Given the description of an element on the screen output the (x, y) to click on. 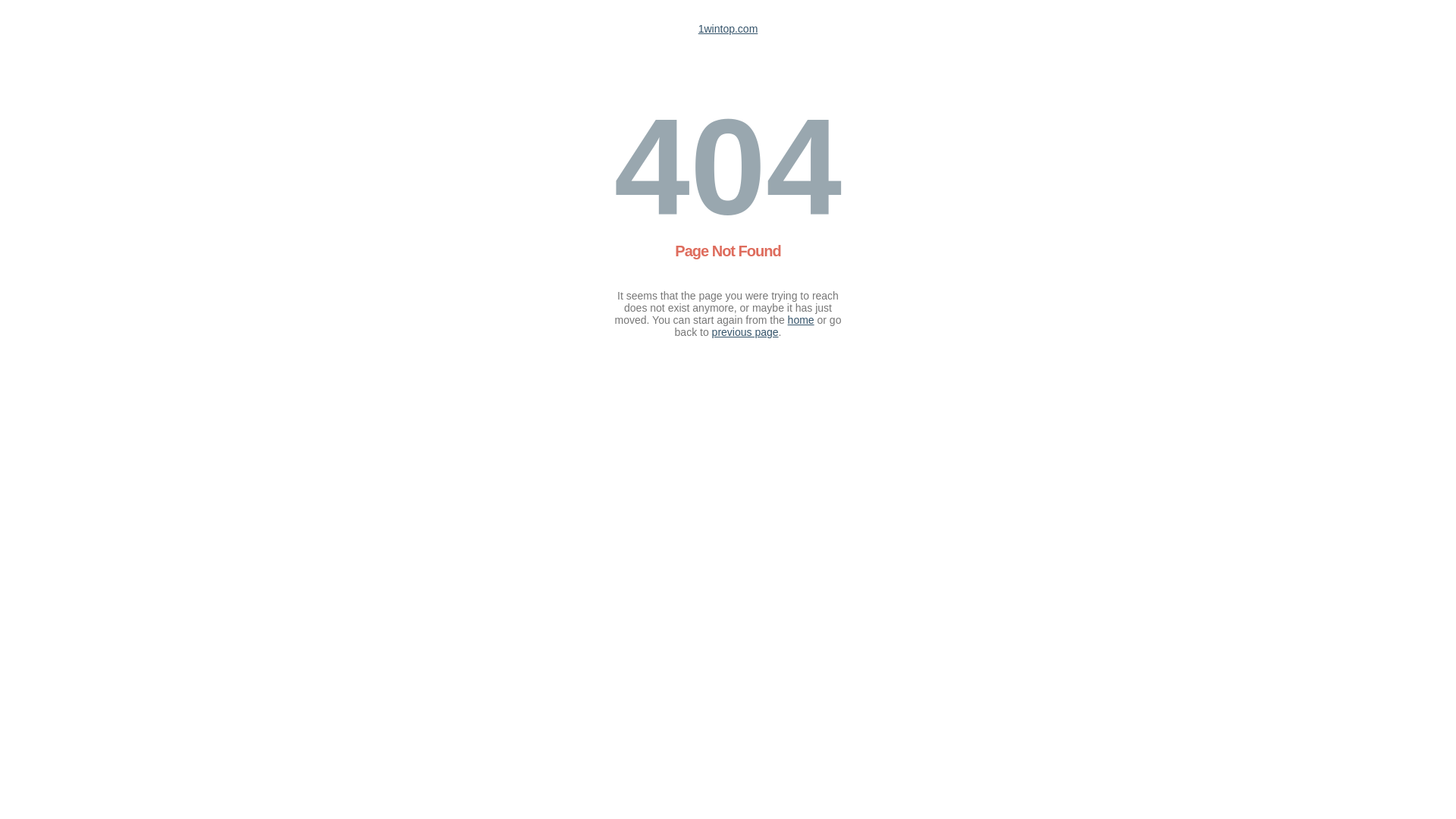
home Element type: text (800, 319)
previous page Element type: text (745, 332)
1wintop.com Element type: text (728, 28)
